Given the description of an element on the screen output the (x, y) to click on. 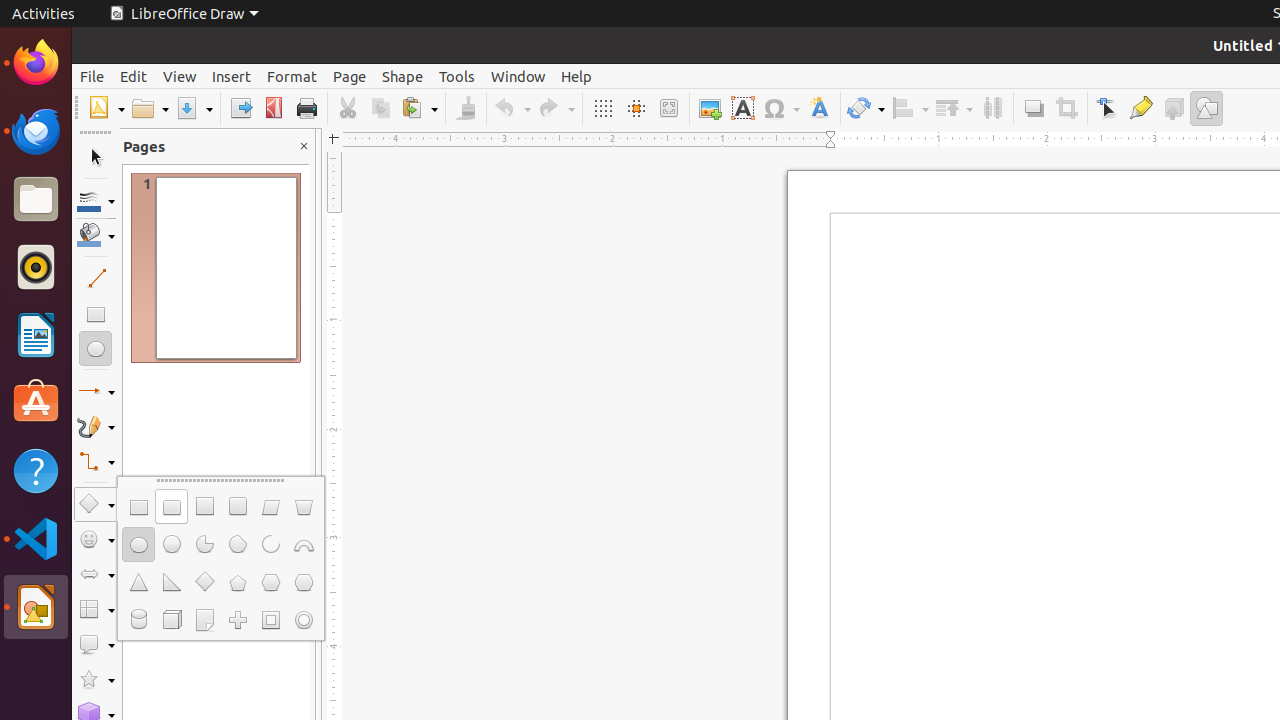
Transformations Element type: push-button (866, 108)
Crop Element type: push-button (1066, 108)
Image Element type: push-button (709, 108)
Edit Points Element type: push-button (1107, 108)
Fontwork Style Element type: toggle-button (819, 108)
